Given the description of an element on the screen output the (x, y) to click on. 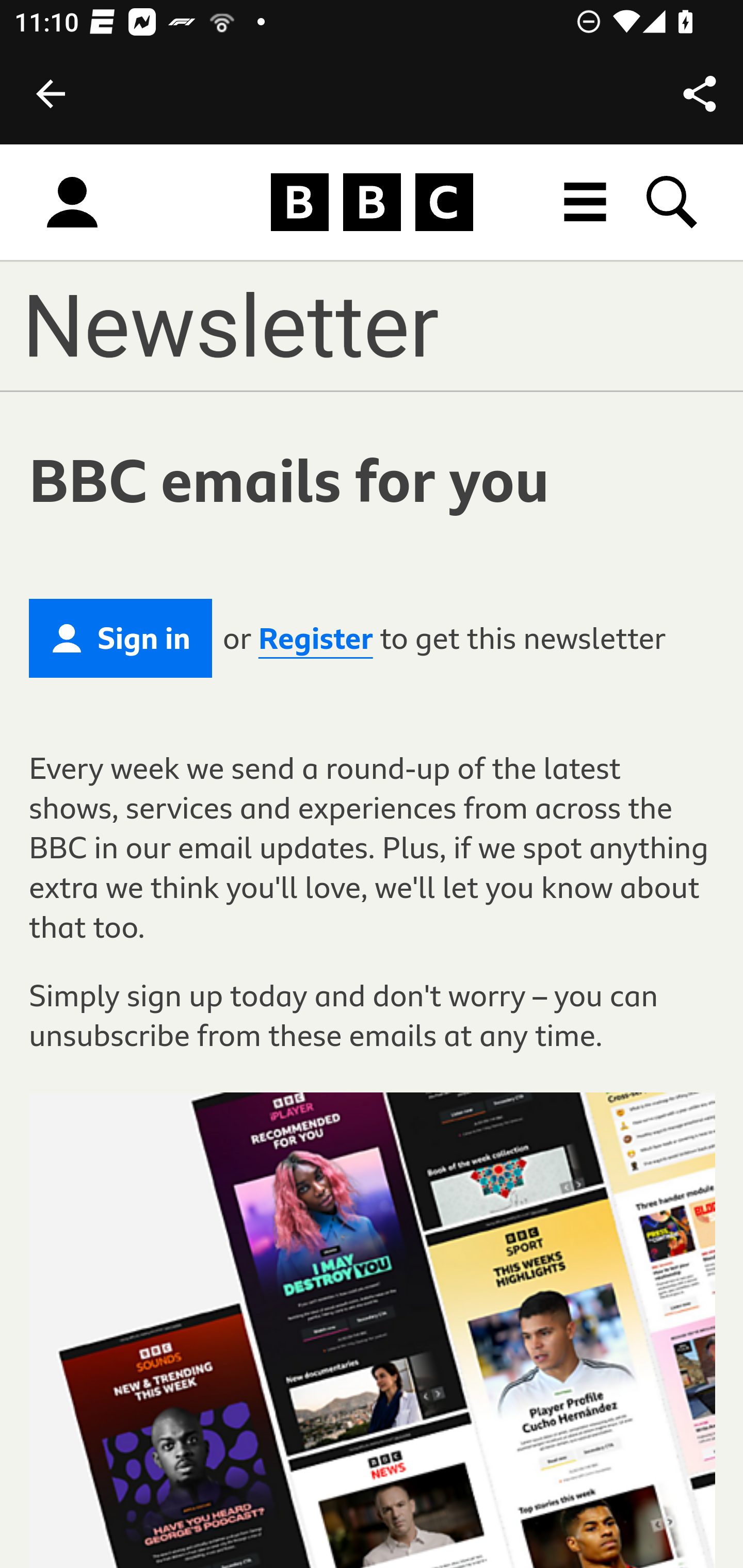
Back (50, 93)
Share (699, 93)
All BBC destinations menu (585, 202)
Search BBC (672, 202)
Sign in (71, 203)
Homepage (371, 203)
NEWSLETTERS (312, 325)
Sign in (120, 637)
Register (314, 638)
